Given the description of an element on the screen output the (x, y) to click on. 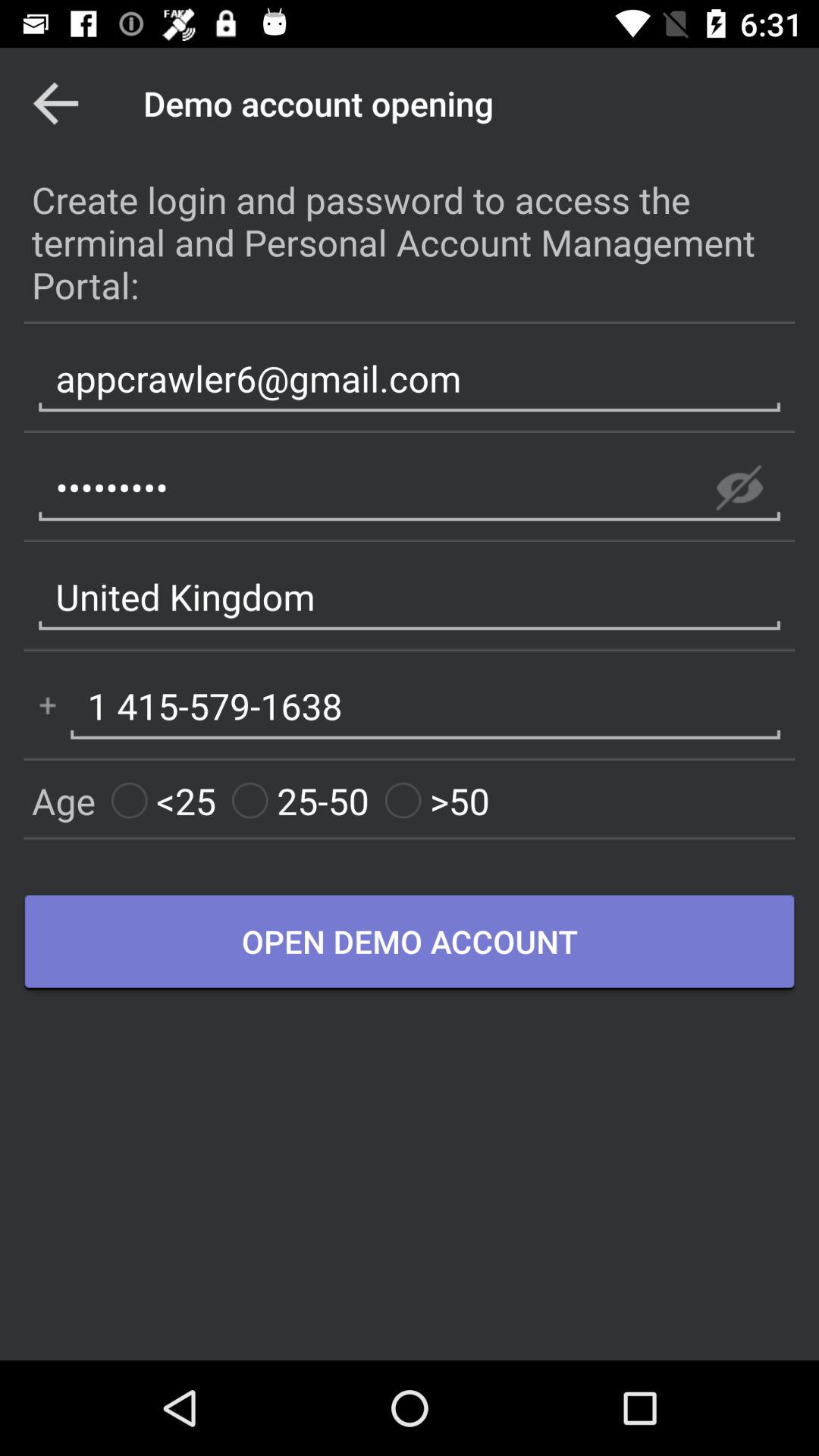
choose the icon below crowd3116 item (409, 597)
